Given the description of an element on the screen output the (x, y) to click on. 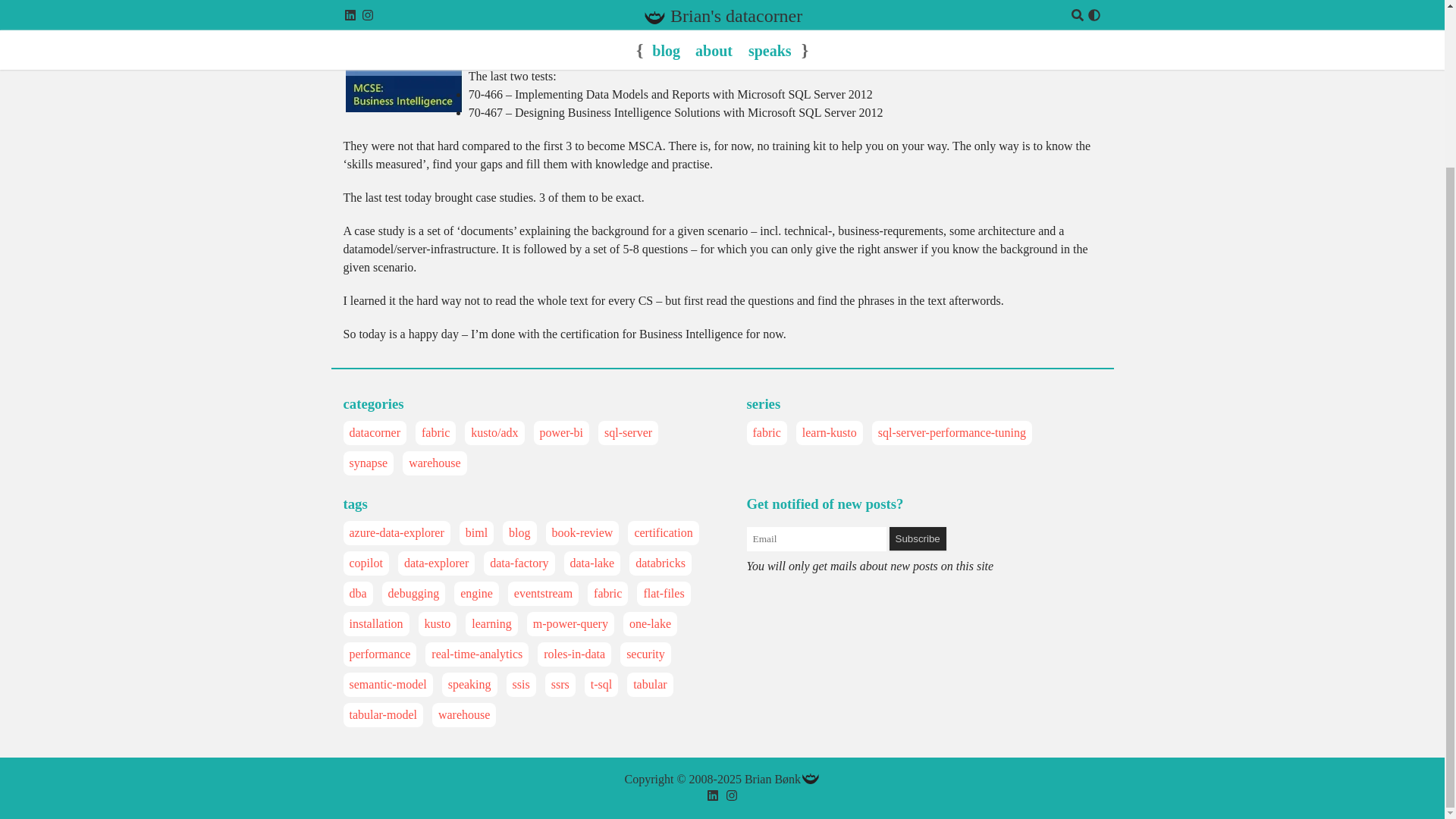
kusto (438, 624)
dba (357, 593)
flat-files (663, 593)
biml (476, 533)
data-explorer (436, 563)
fabric (435, 433)
azure-data-explorer (396, 533)
synapse (368, 463)
eventstream (542, 593)
book-review (581, 533)
